Given the description of an element on the screen output the (x, y) to click on. 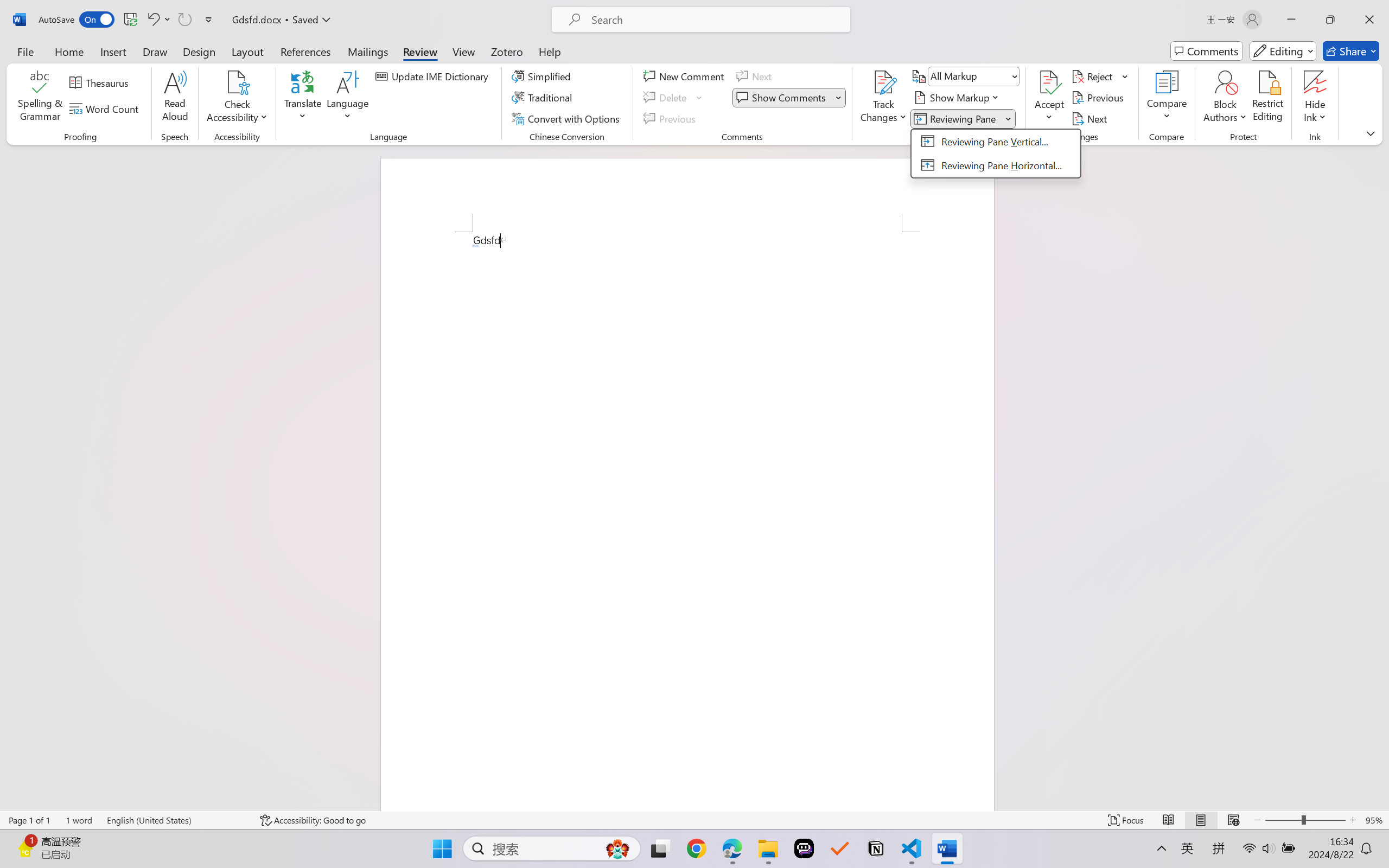
Traditional (543, 97)
Delete (673, 97)
Check Accessibility (237, 81)
Track Changes (883, 97)
Language (347, 97)
Notion (875, 848)
